Given the description of an element on the screen output the (x, y) to click on. 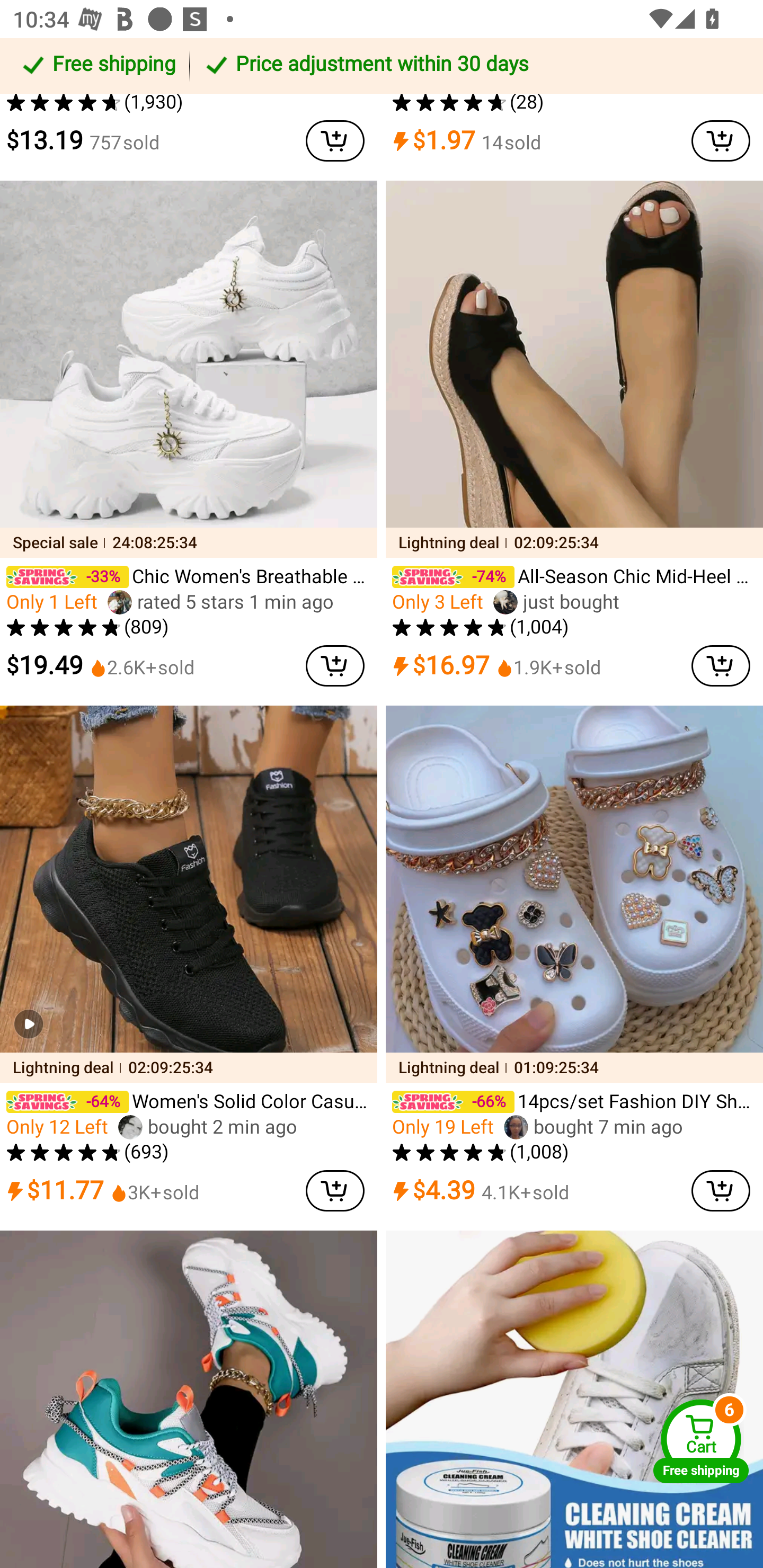
Free shipping (97, 65)
Price adjustment within 30 days (472, 65)
cart delete (334, 140)
cart delete (720, 140)
cart delete (334, 665)
cart delete (720, 665)
cart delete (334, 1190)
cart delete (720, 1190)
Cart Free shipping Cart (701, 1440)
